Given the description of an element on the screen output the (x, y) to click on. 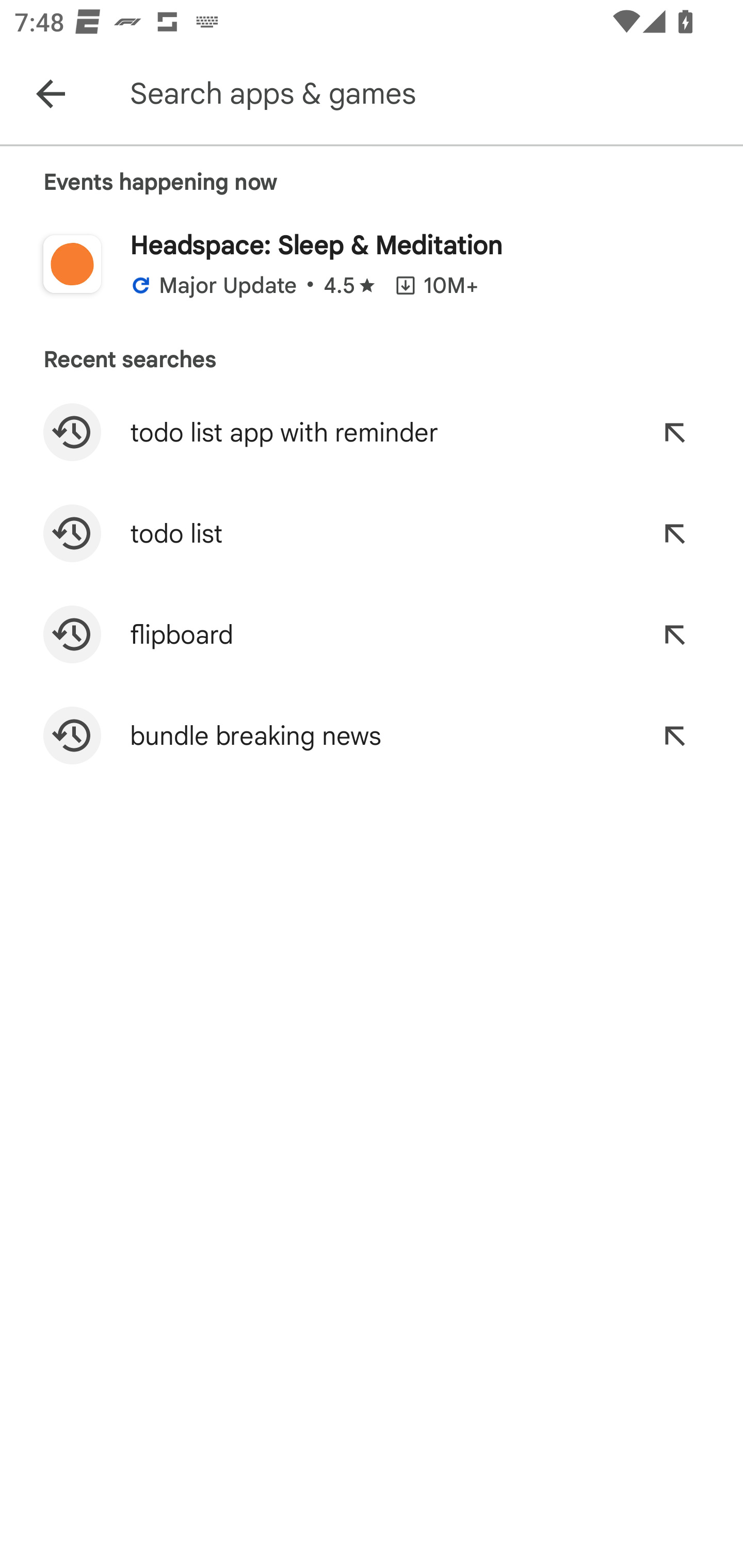
Navigate up (50, 93)
Search apps & games (432, 93)
Refine search to "todo list app with reminder" (673, 431)
Refine search to "todo list" (673, 532)
Refine search to "flipboard" (673, 634)
Refine search to "bundle breaking news" (673, 735)
